Given the description of an element on the screen output the (x, y) to click on. 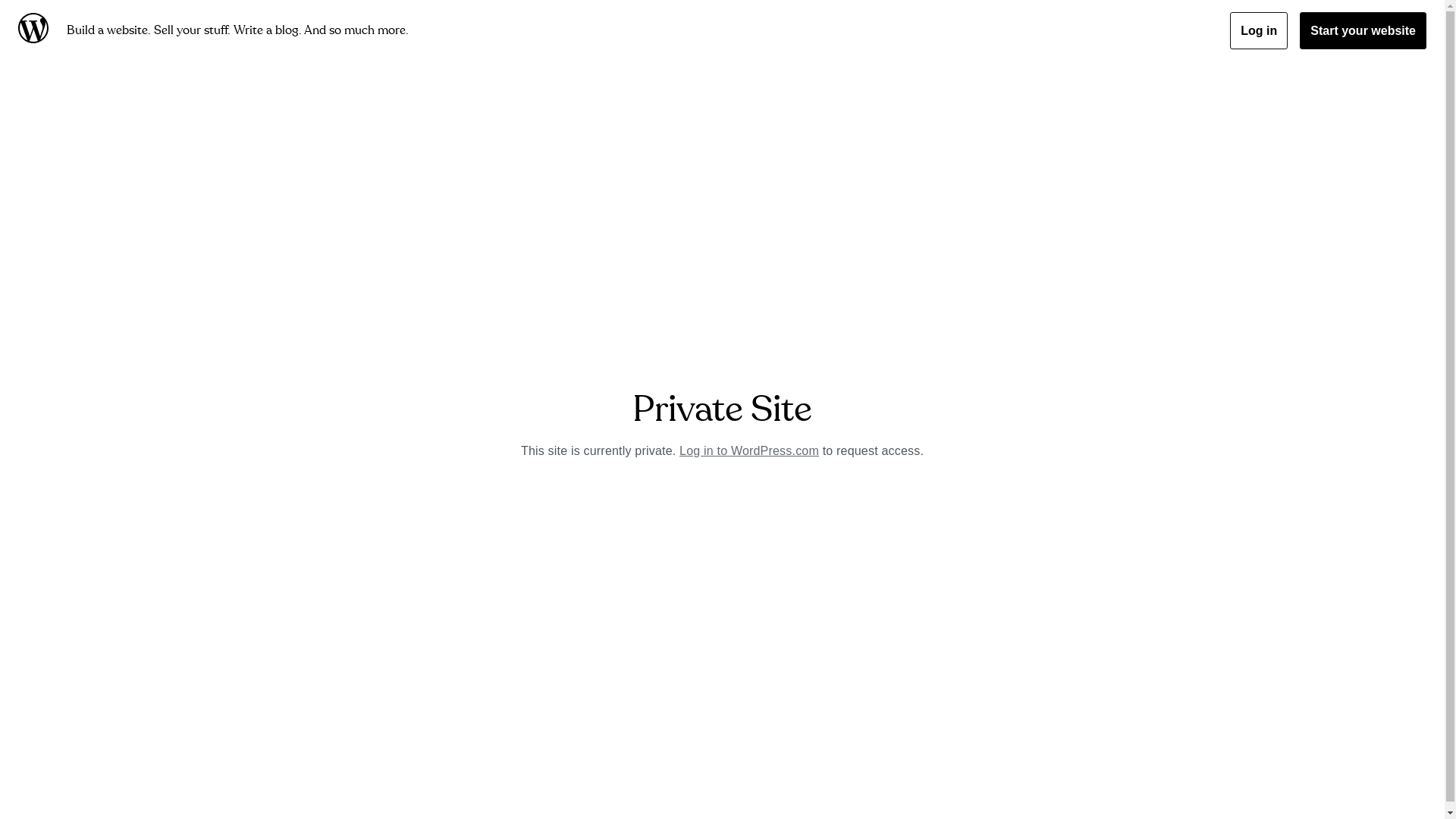
Log in to WordPress.com Element type: text (749, 450)
Start your website Element type: text (1362, 30)
WordPress.com Element type: text (36, 30)
Log in Element type: text (1258, 30)
